Given the description of an element on the screen output the (x, y) to click on. 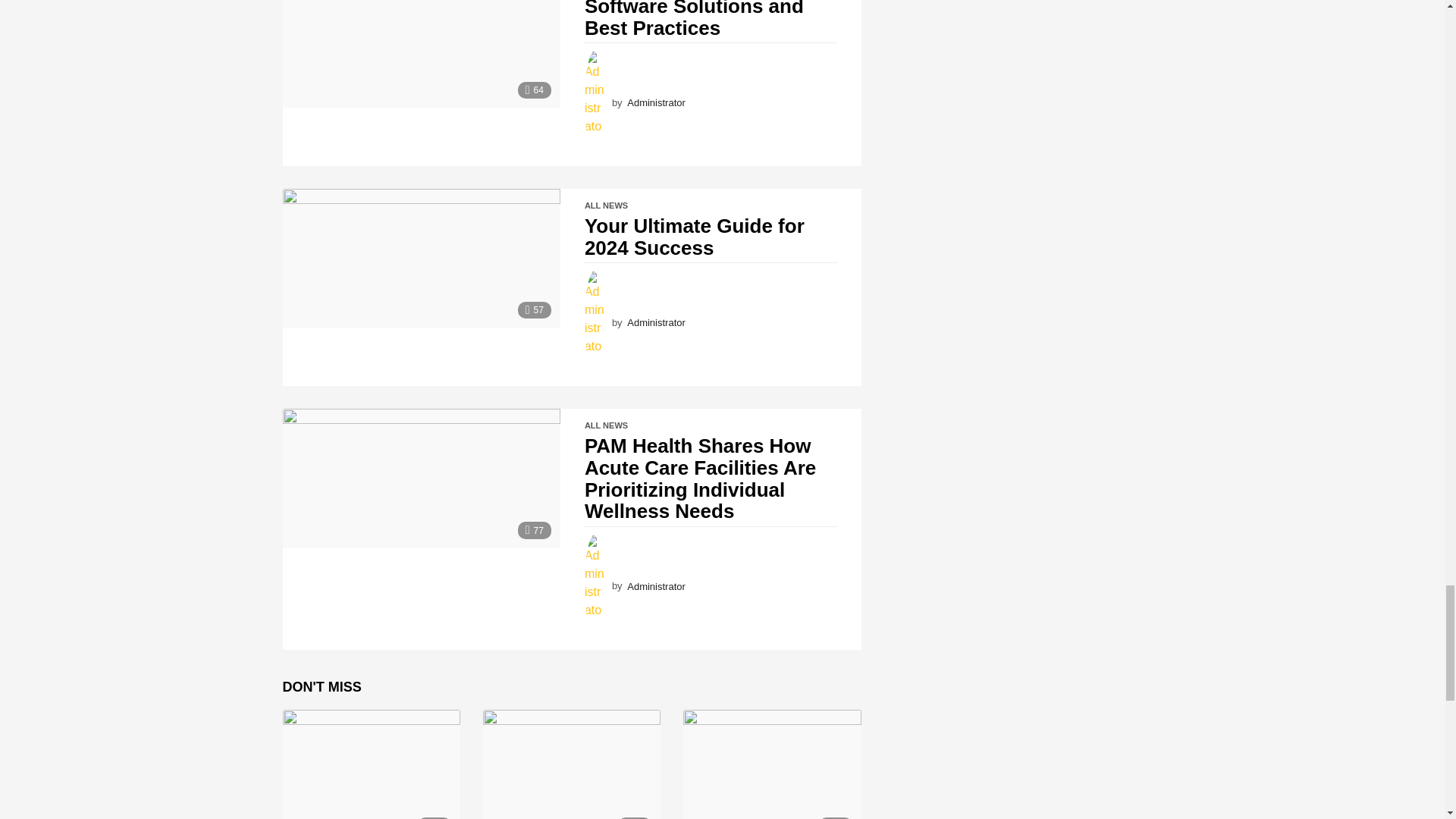
Your Ultimate Guide for 2024 Success (420, 258)
Software Solutions and Best Practices (420, 53)
